Given the description of an element on the screen output the (x, y) to click on. 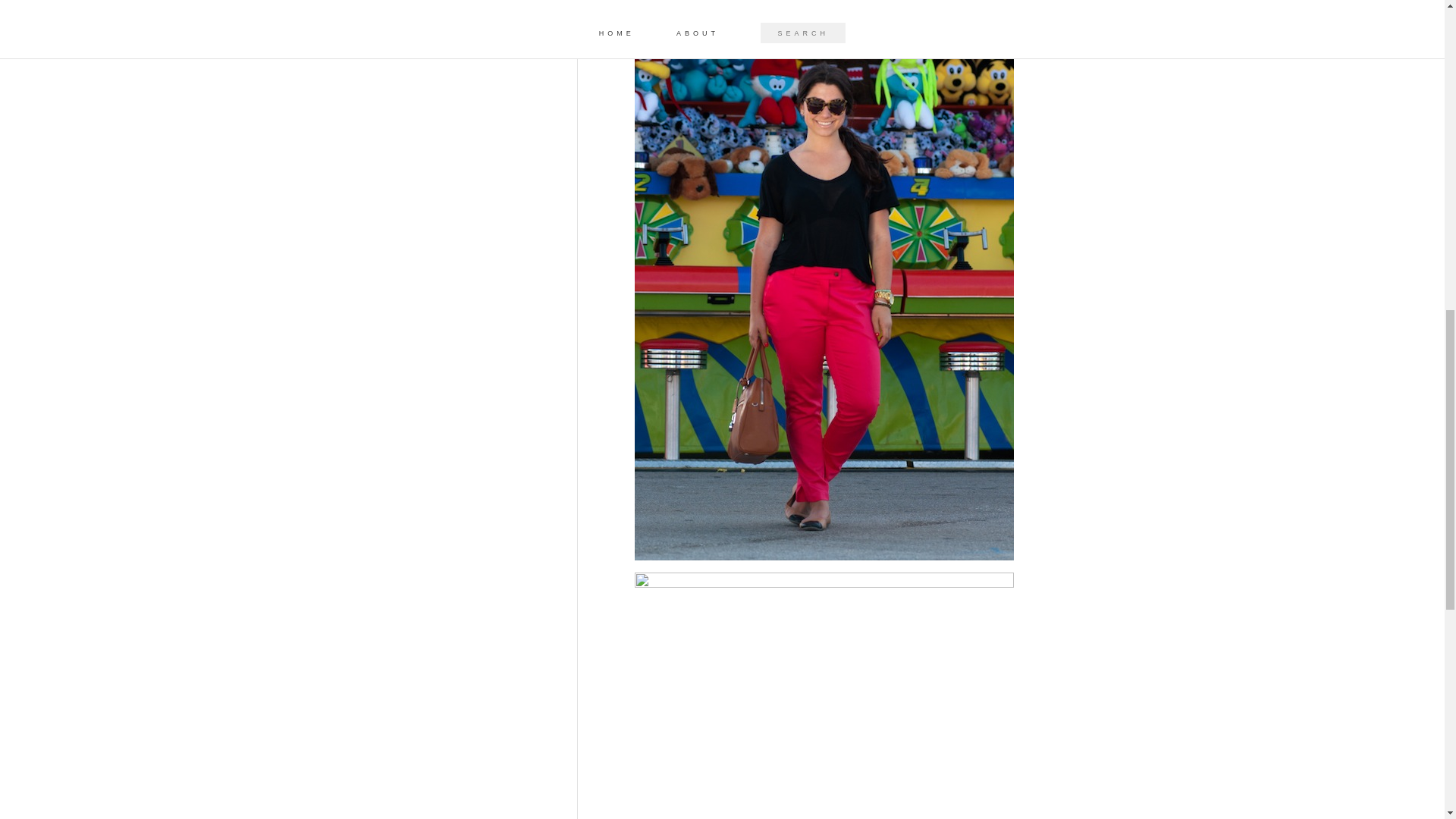
Untitled-4 (823, 695)
